Given the description of an element on the screen output the (x, y) to click on. 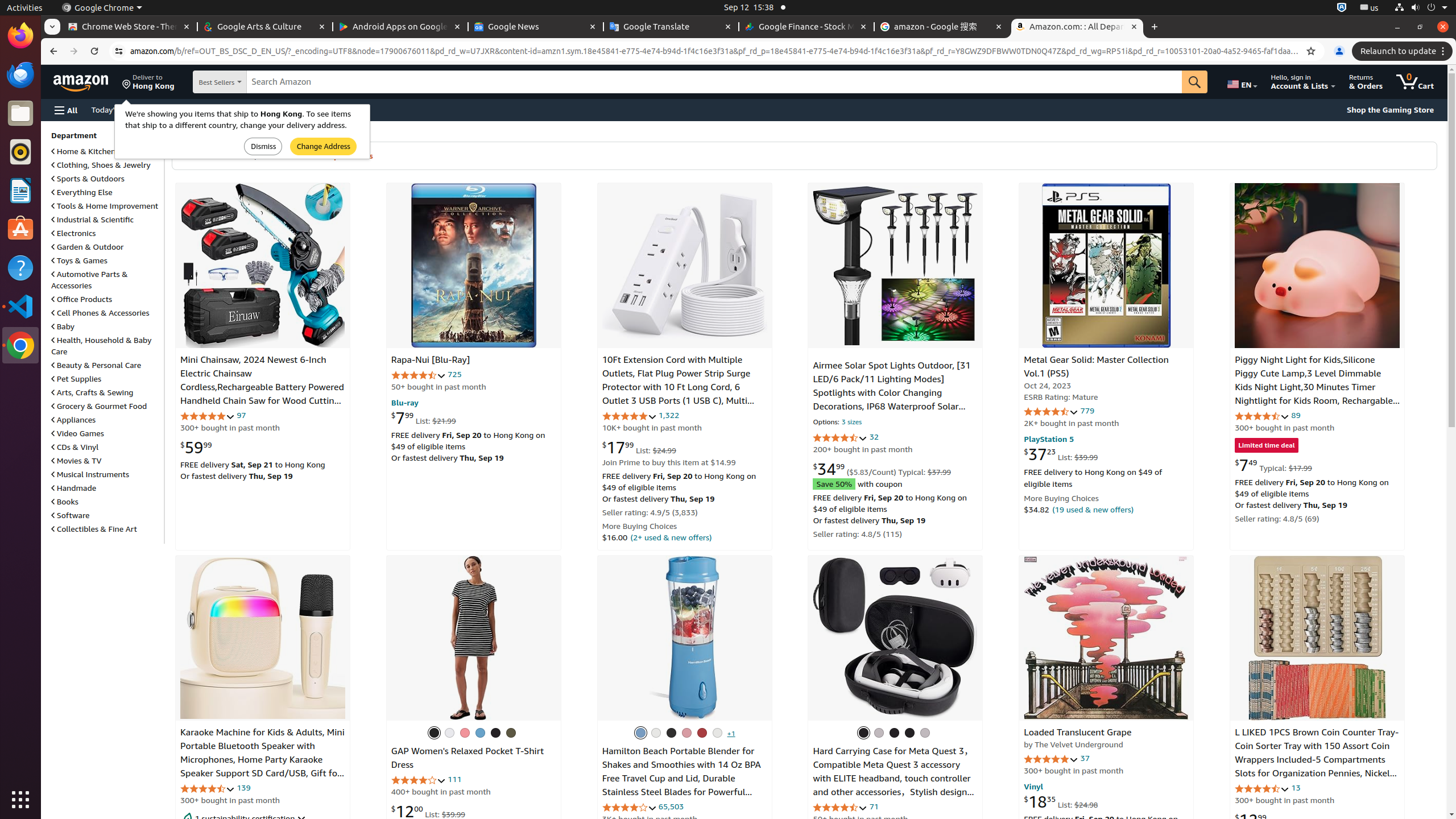
Arts, Crafts & Sewing Element type: link (92, 391)
HWWR Karaoke Machine for Kids & Adults, Mini Portable Bluetooth Speaker with Microphones, Home Party Karaoke Speaker Suppo... Element type: link (262, 637)
Deliver to Hong Kong Element type: link (148, 81)
32 Element type: link (874, 436)
(19 used & new offers) Element type: link (1093, 508)
